Given the description of an element on the screen output the (x, y) to click on. 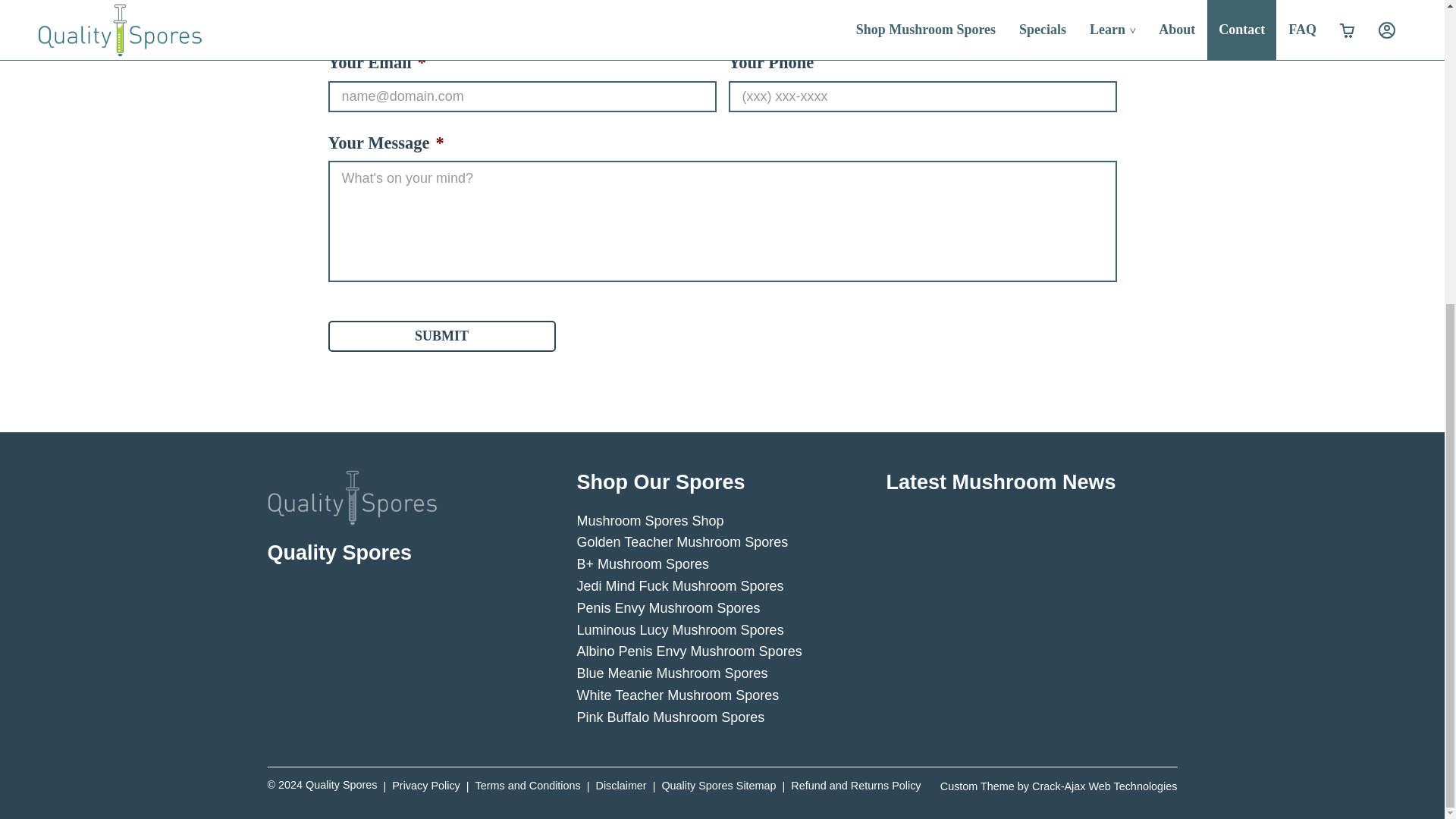
Albino Penis Envy Mushroom Spores (689, 651)
Jedi Mind Fuck Mushroom Spores (679, 585)
Quality Spores (321, 785)
Mushroom Spores Shop (649, 520)
Blue Meanie Mushroom Spores (671, 672)
Golden Teacher Mushroom Spores (681, 541)
Custom Theme by Crack-Ajax Web Technologies (1058, 786)
White Teacher Mushroom Spores (677, 694)
Custom Theme by Crack-Ajax Web Technologies (1058, 786)
Luminous Lucy Mushroom Spores (679, 630)
Submit (440, 336)
Submit (440, 336)
Penis Envy Mushroom Spores (668, 607)
Pink Buffalo Mushroom Spores (670, 717)
